Given the description of an element on the screen output the (x, y) to click on. 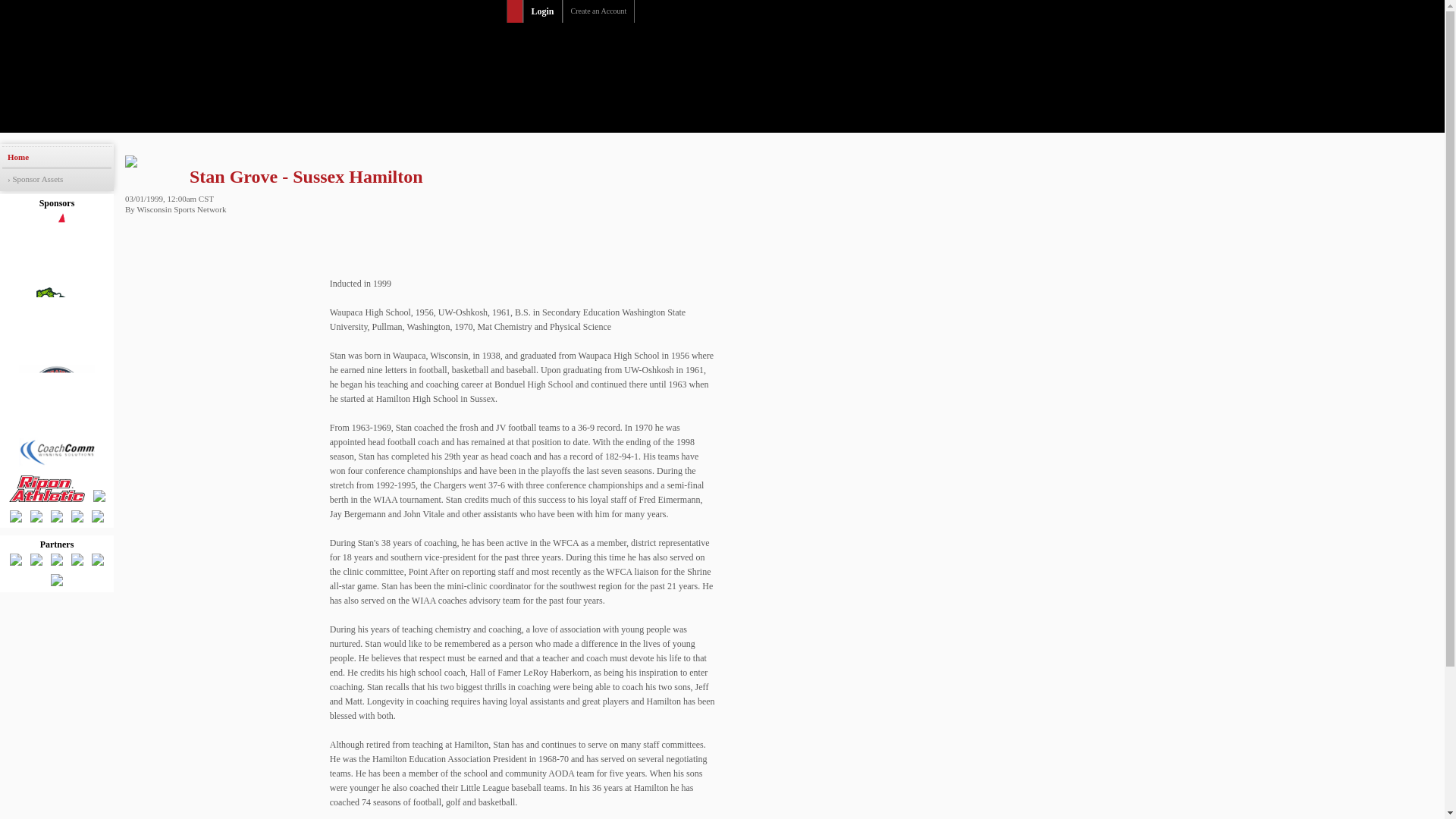
click to go to 'Home' (57, 156)
Sponsor Assets (57, 178)
SportsEngine (684, 11)
Wisconsin Football Coaches Association Homepage (733, 47)
Login (542, 11)
Login (542, 11)
Home (57, 156)
Wisconsin Football Coaches Association (733, 47)
click to go to 'Sponsor Assets' (57, 178)
Create an Account (598, 11)
